Given the description of an element on the screen output the (x, y) to click on. 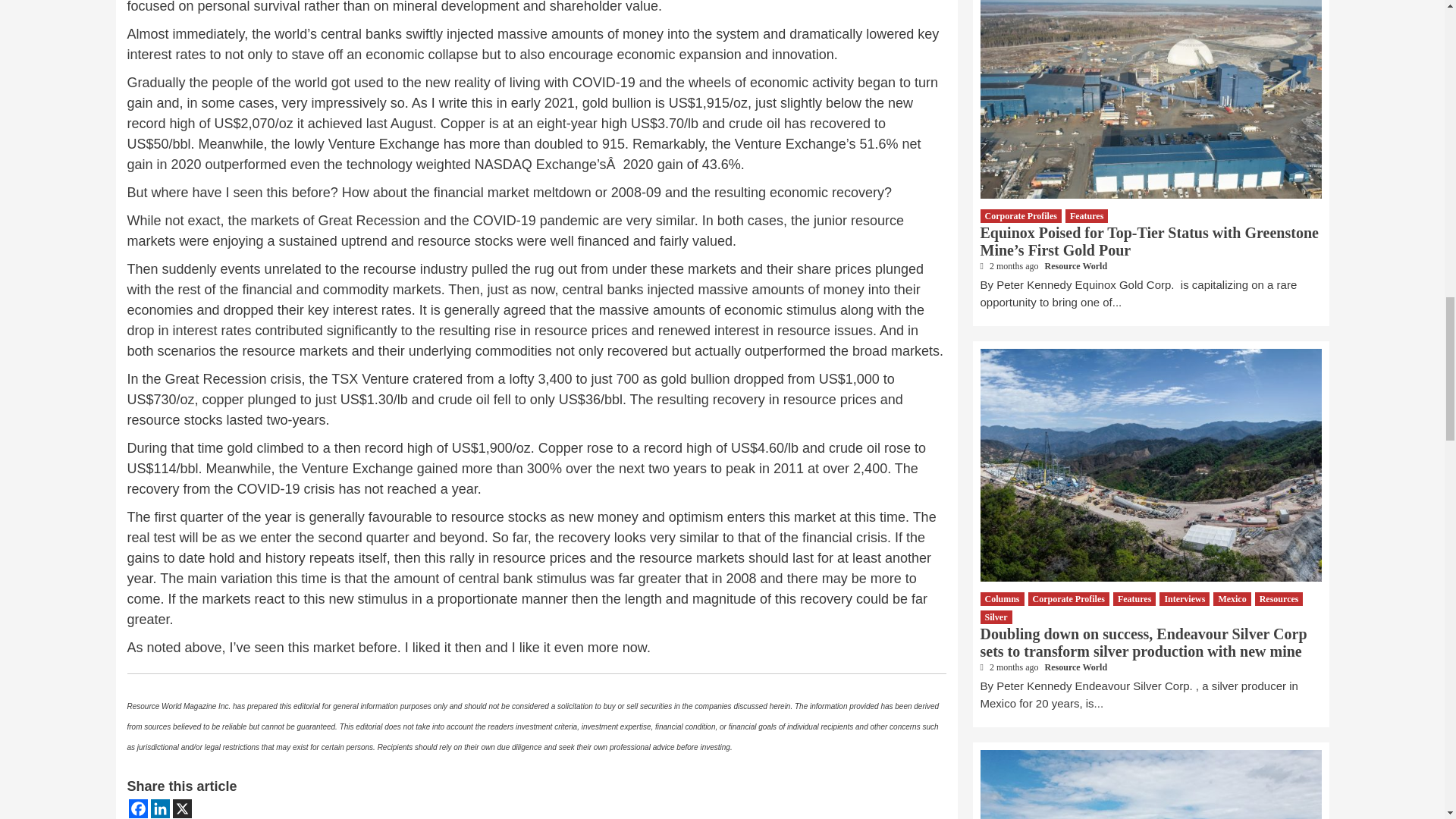
Linkedin (158, 808)
Facebook (138, 808)
X (182, 808)
